Given the description of an element on the screen output the (x, y) to click on. 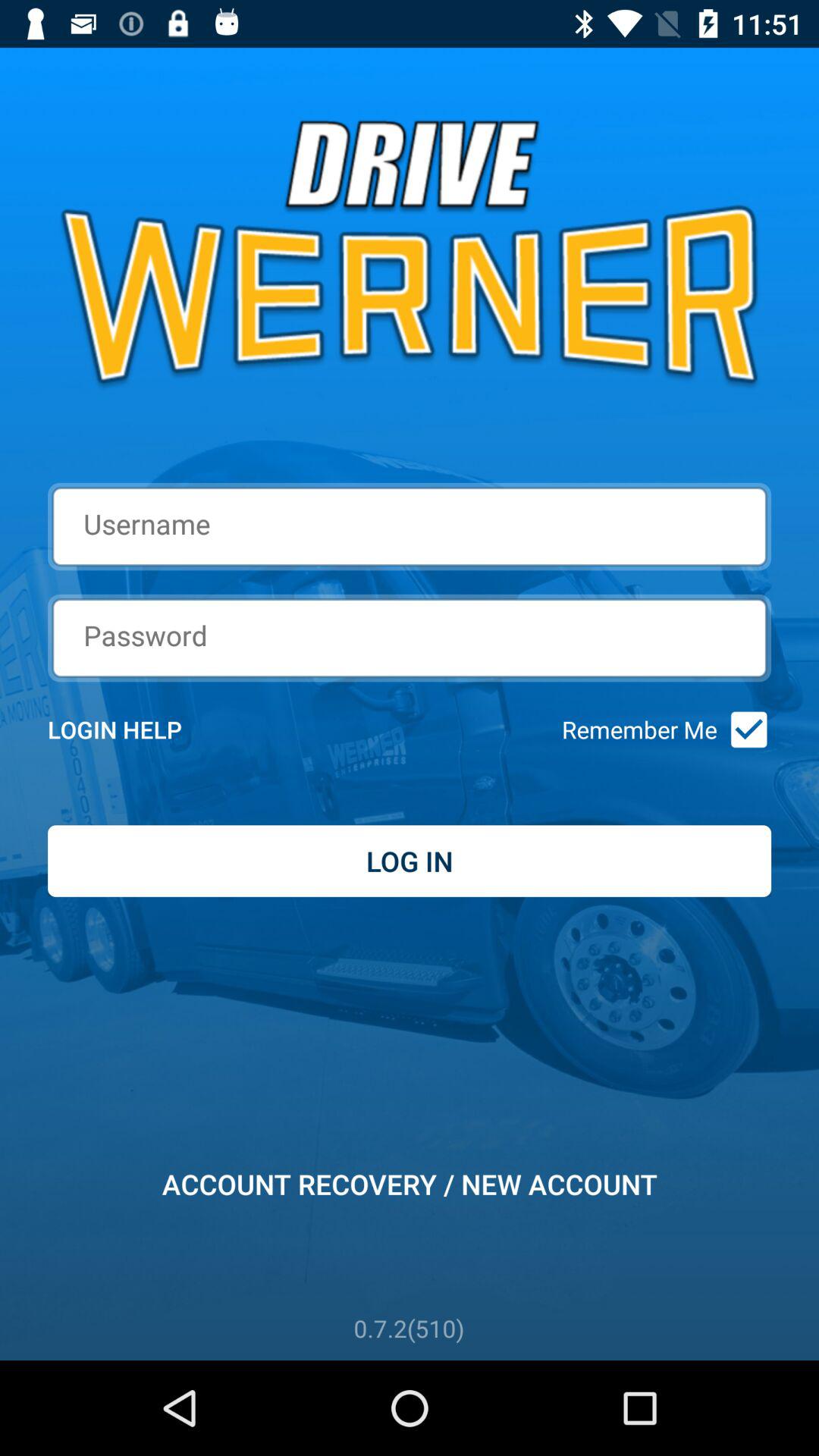
click the item next to remember me icon (134, 729)
